Given the description of an element on the screen output the (x, y) to click on. 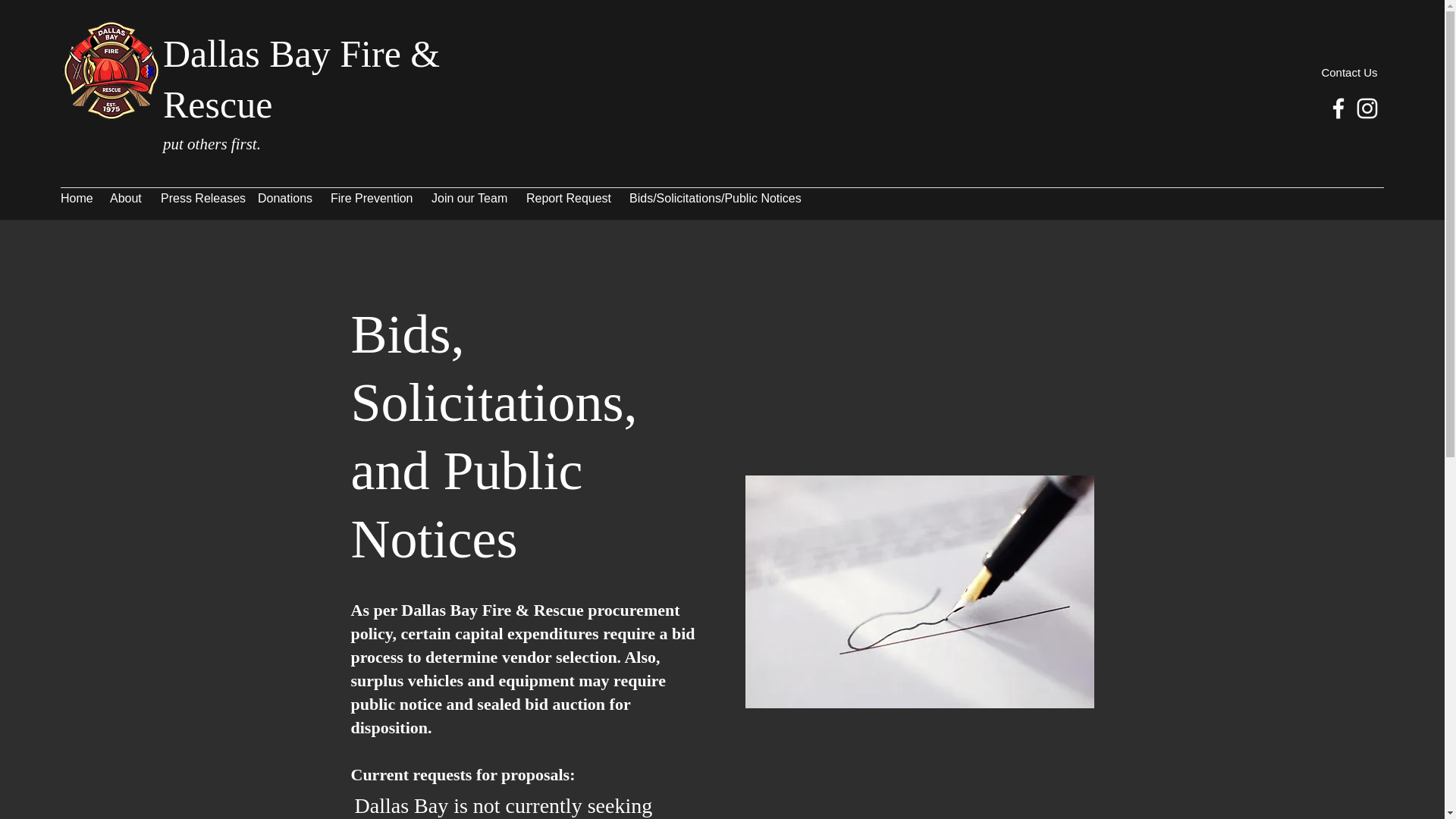
Press Releases (201, 198)
Contact Us (1348, 72)
Home (76, 198)
Report Request (569, 198)
About (126, 198)
Join our Team (470, 198)
Fire Prevention (373, 198)
Donations (286, 198)
